Given the description of an element on the screen output the (x, y) to click on. 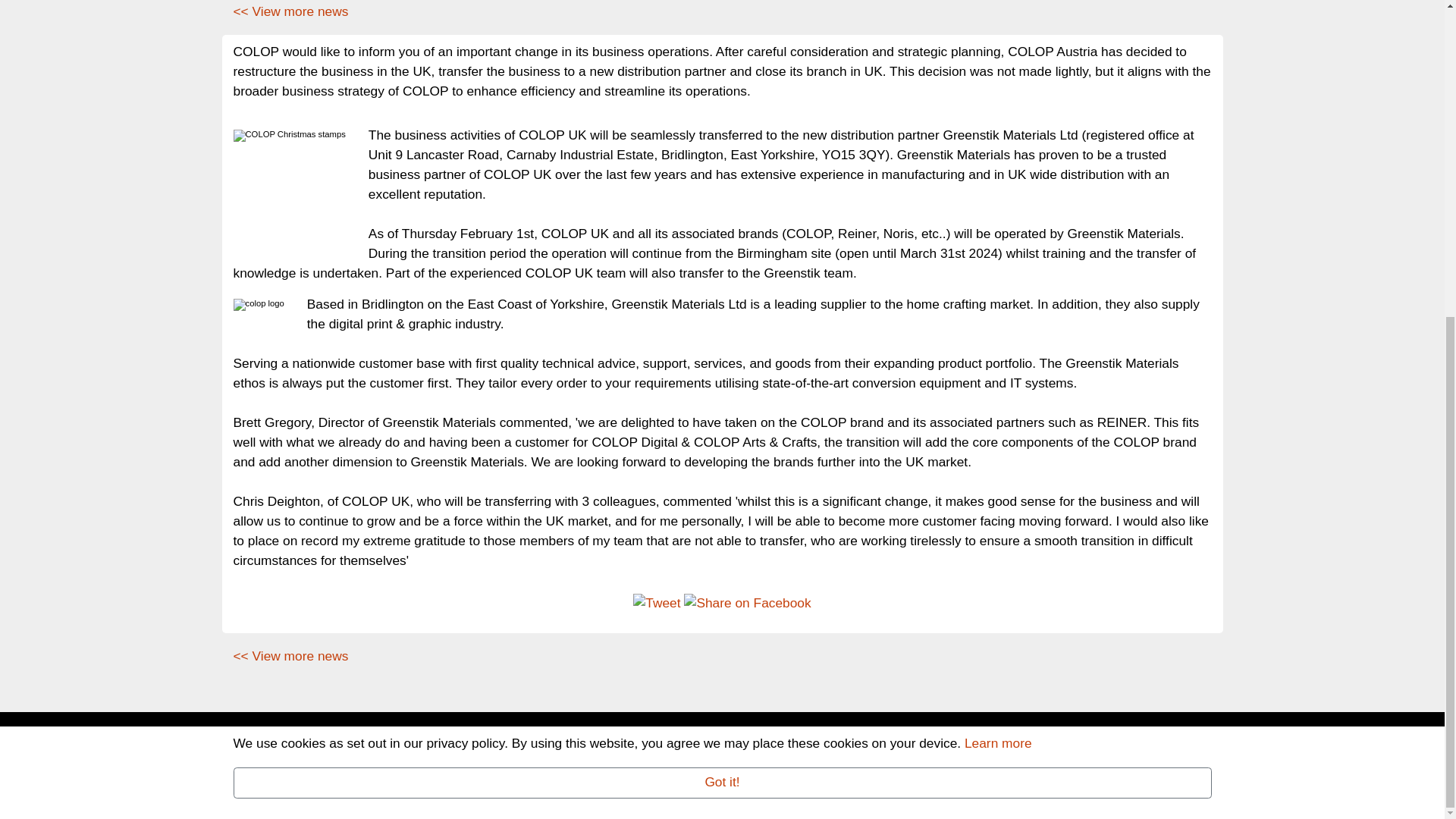
Visit the Ellis Media and Events Ltd website (1139, 746)
Email Ellis Media and Events Ltd (533, 775)
Visit the Ellis Media and Events Ltd website (353, 795)
View more news (290, 655)
